Given the description of an element on the screen output the (x, y) to click on. 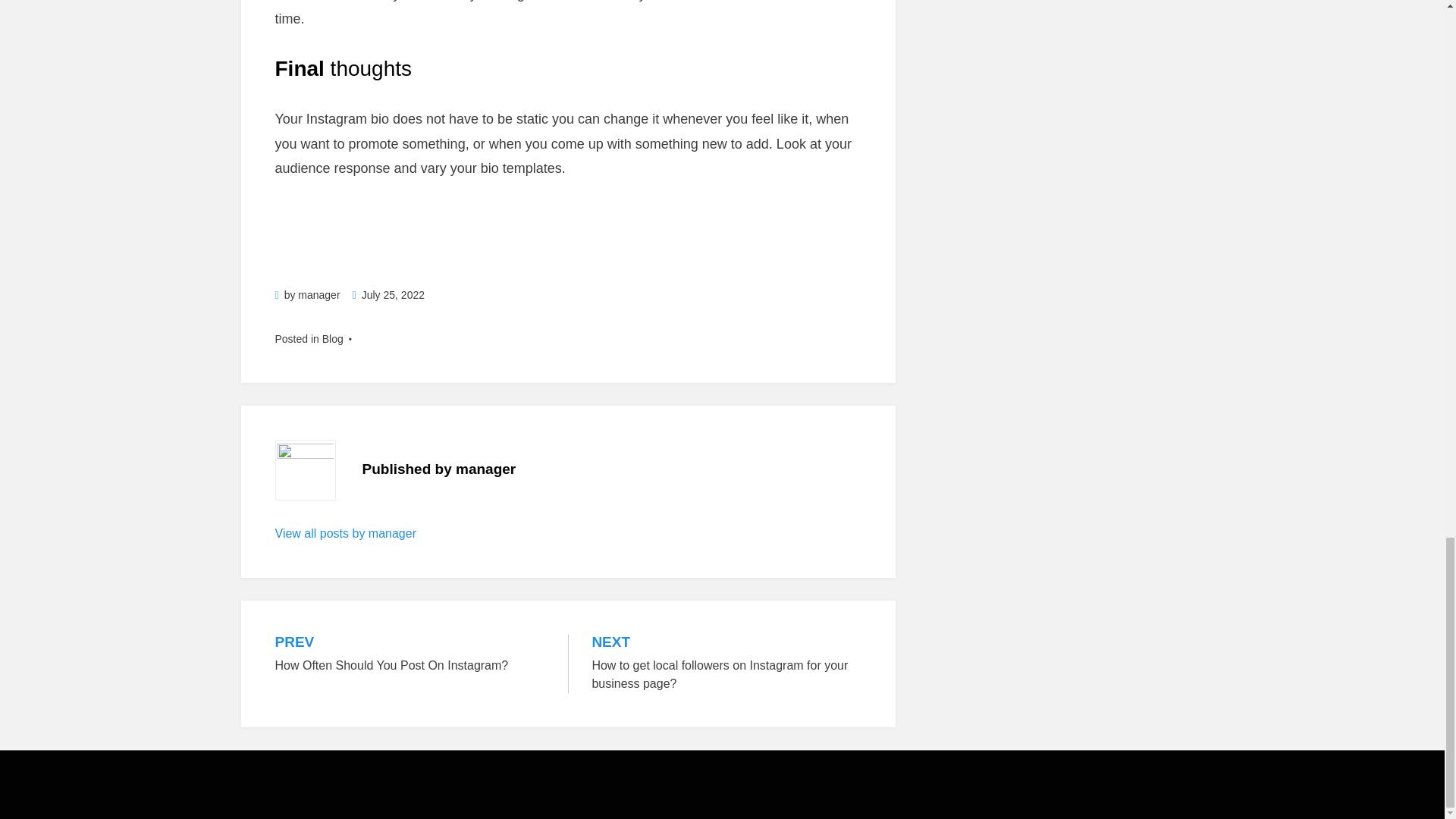
Blog (332, 338)
TemplatePocket (365, 796)
July 25, 2022 (388, 295)
TemplatePocket (409, 654)
manager (365, 796)
WordPress (318, 295)
View all posts by manager (481, 796)
WordPress (344, 533)
